Given the description of an element on the screen output the (x, y) to click on. 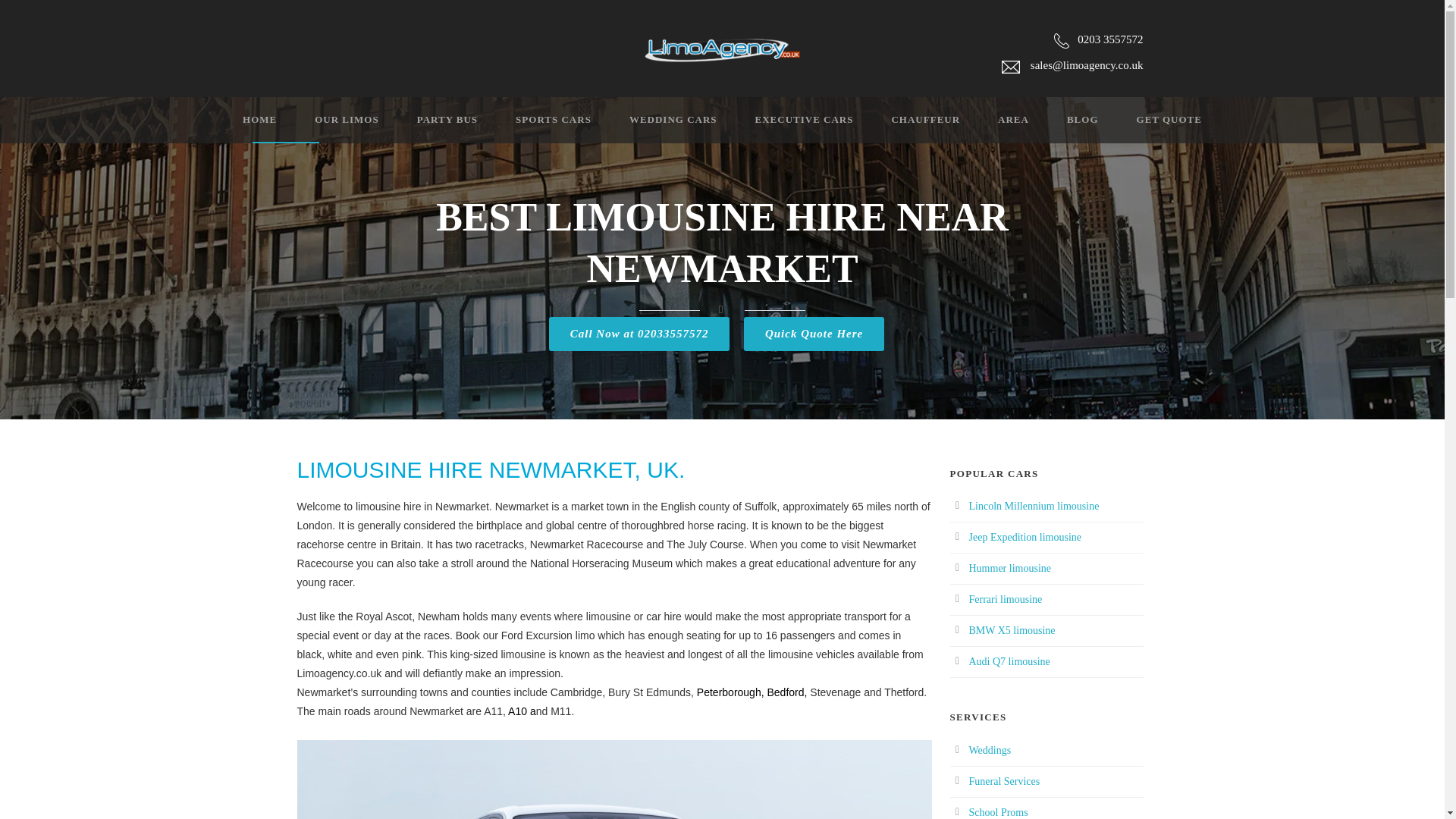
CHAUFFEUR (906, 126)
Jeep Expedition limousine (1025, 536)
Hummer limousine (1010, 568)
Weddings (990, 749)
Call Now at 02033557572 (639, 333)
BMW X5 limousine (1012, 630)
EXECUTIVE CARS (785, 126)
Audi Q7 limousine (1009, 661)
WEDDING CARS (654, 126)
AREA (994, 126)
Ferrari limousine (1005, 599)
GET QUOTE (1150, 126)
PARTY BUS (427, 126)
Lincoln Millennium limousine (1034, 505)
School Proms (998, 812)
